Given the description of an element on the screen output the (x, y) to click on. 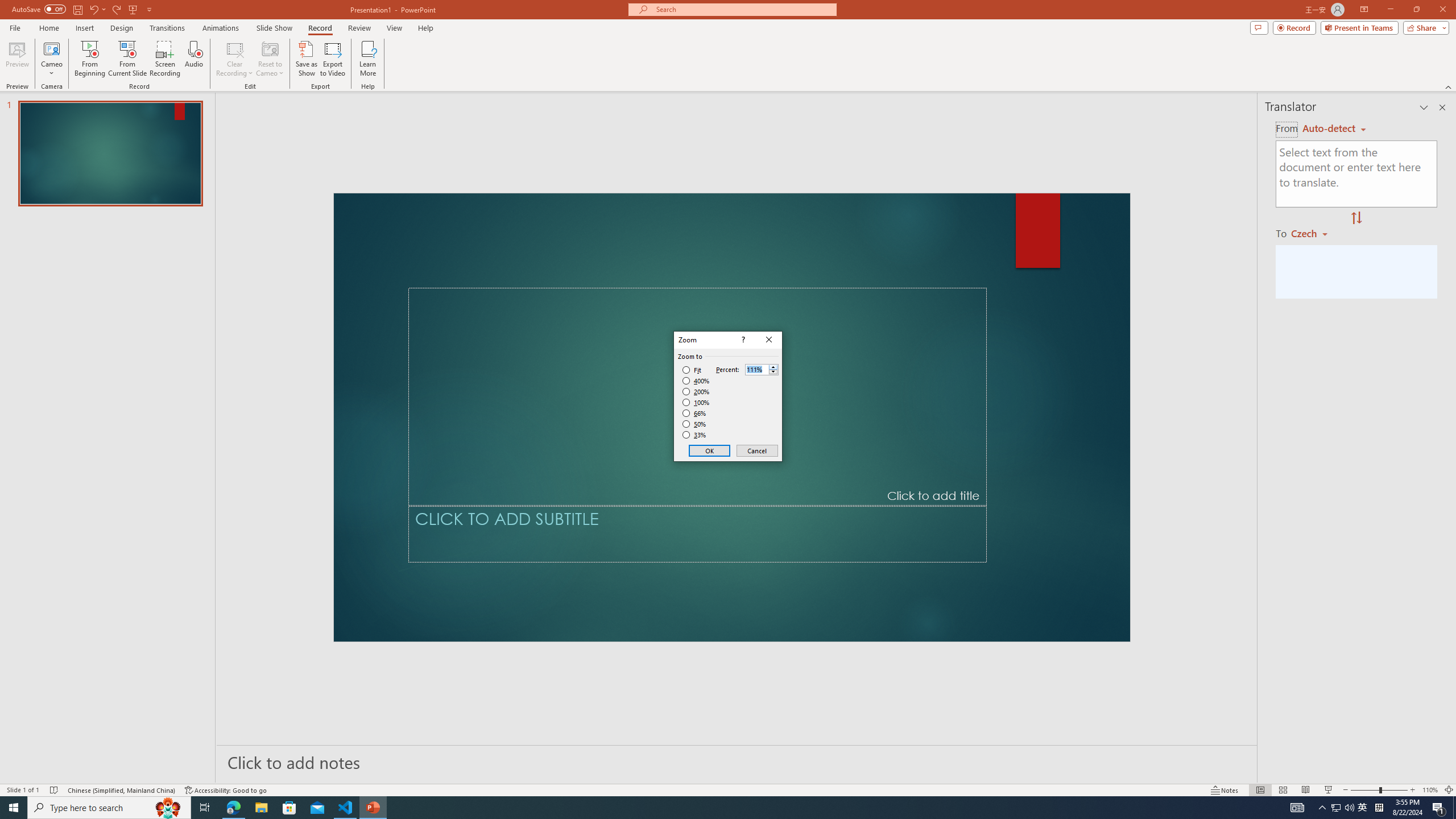
First (721, 72)
Next (805, 72)
Language English (United States) (186, 773)
Restore Down (1394, 18)
Zoom In (1413, 773)
Undo Click and Type Formatting (159, 18)
Page Number Page 1 of 1 (30, 773)
Chinese Envelope... (39, 92)
Design (281, 47)
AutoSave (80, 18)
Zoom 300% (1438, 773)
Focus  (1175, 773)
Class: Image (1277, 800)
Comments (1275, 48)
References (393, 47)
